Given the description of an element on the screen output the (x, y) to click on. 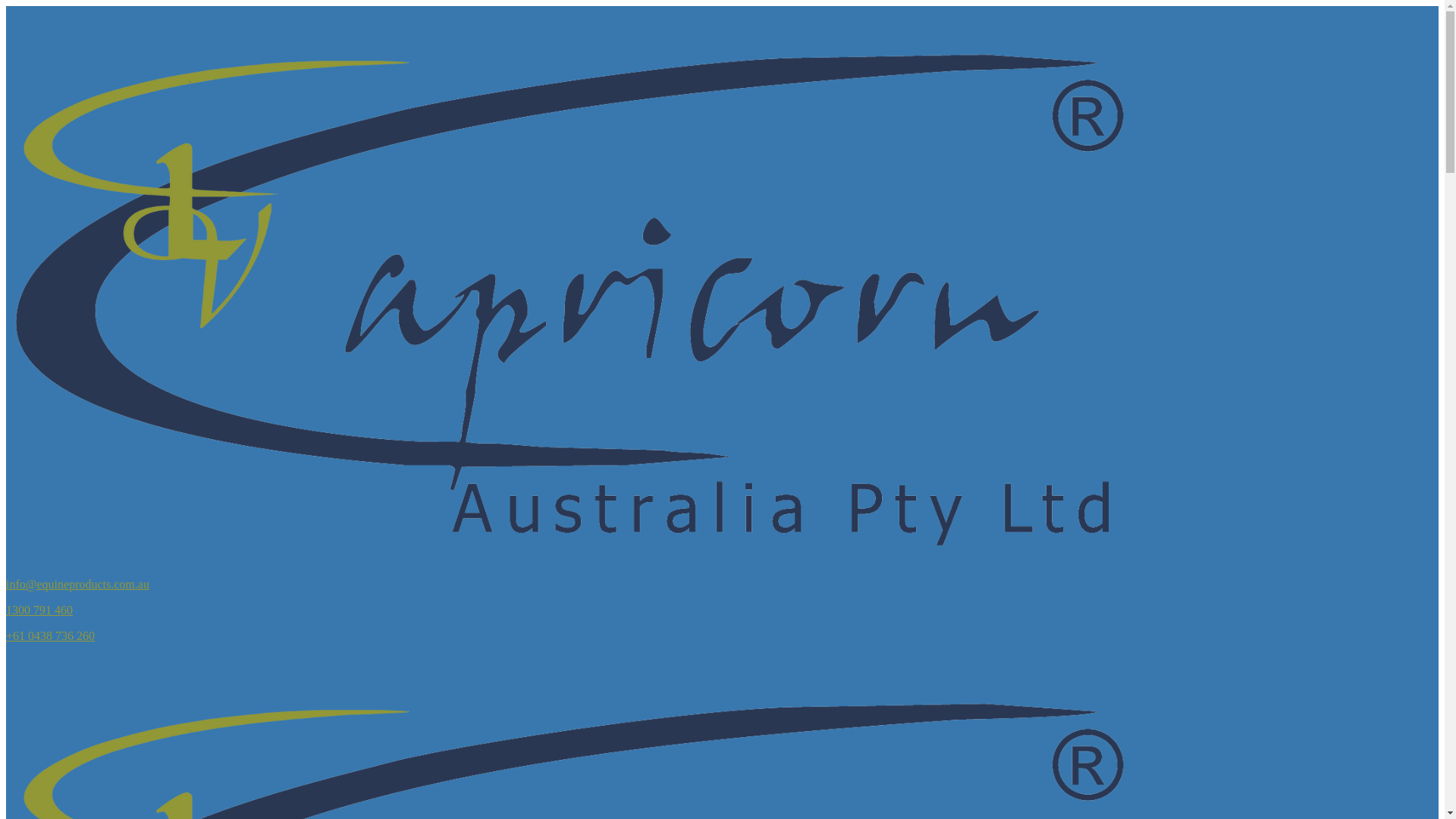
+61 0438 736 260 Element type: text (50, 635)
1300 791 460 Element type: text (39, 609)
info@equineproducts.com.au Element type: text (77, 583)
